Given the description of an element on the screen output the (x, y) to click on. 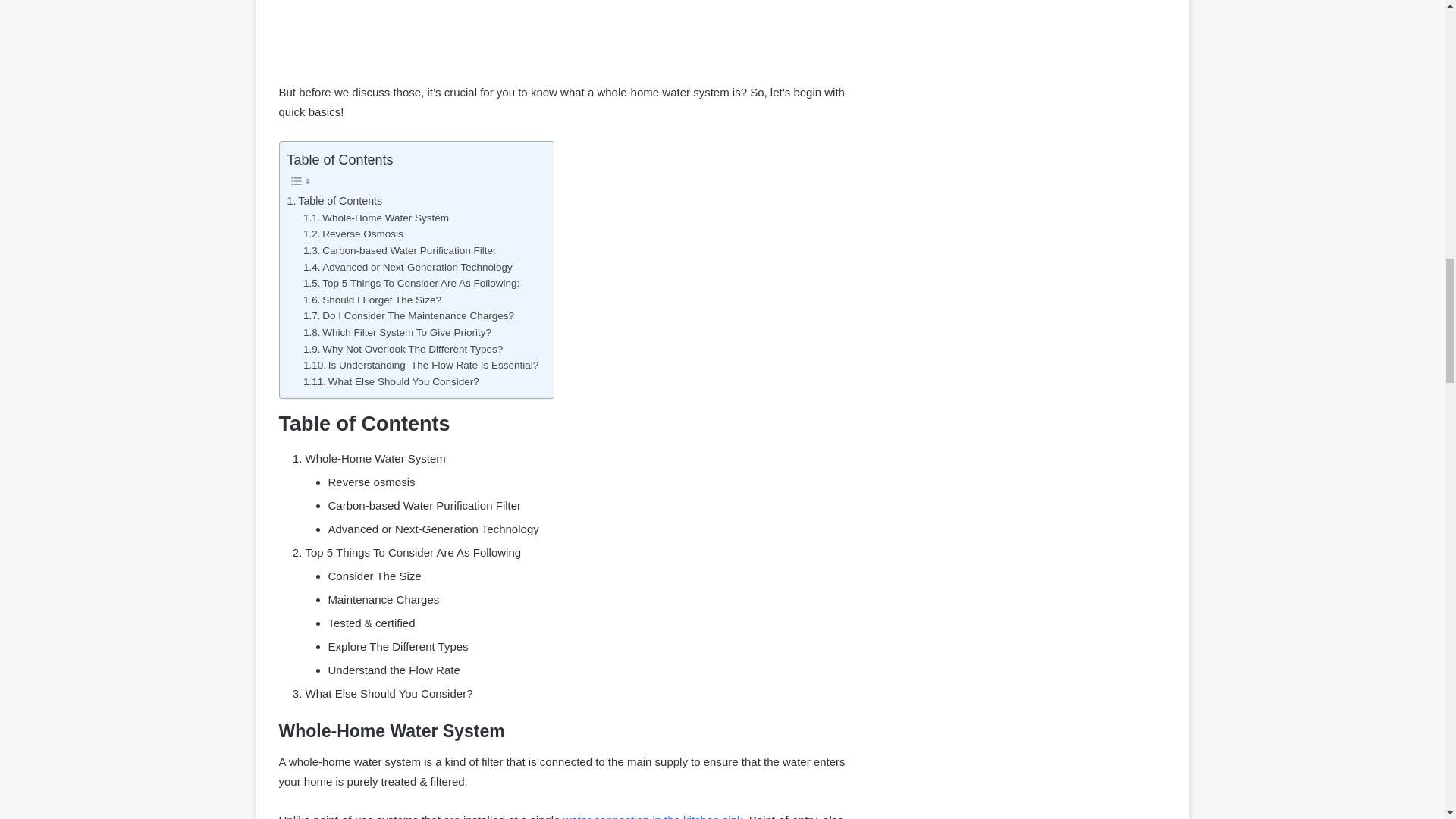
Do I Consider The Maintenance Charges? (407, 315)
Reverse Osmosis (352, 234)
Which Filter System To Give Priority? (397, 332)
Whole-Home Water System (375, 217)
Should I Forget The Size? (371, 299)
Advanced or Next-Generation Technology (407, 267)
Carbon-based Water Purification Filter (399, 250)
Why Not Overlook The Different Types? (402, 349)
Table of Contents (333, 200)
Top 5 Things To Consider Are As Following: (410, 283)
Is Understanding  The Flow Rate Is Essential? (420, 365)
